Given the description of an element on the screen output the (x, y) to click on. 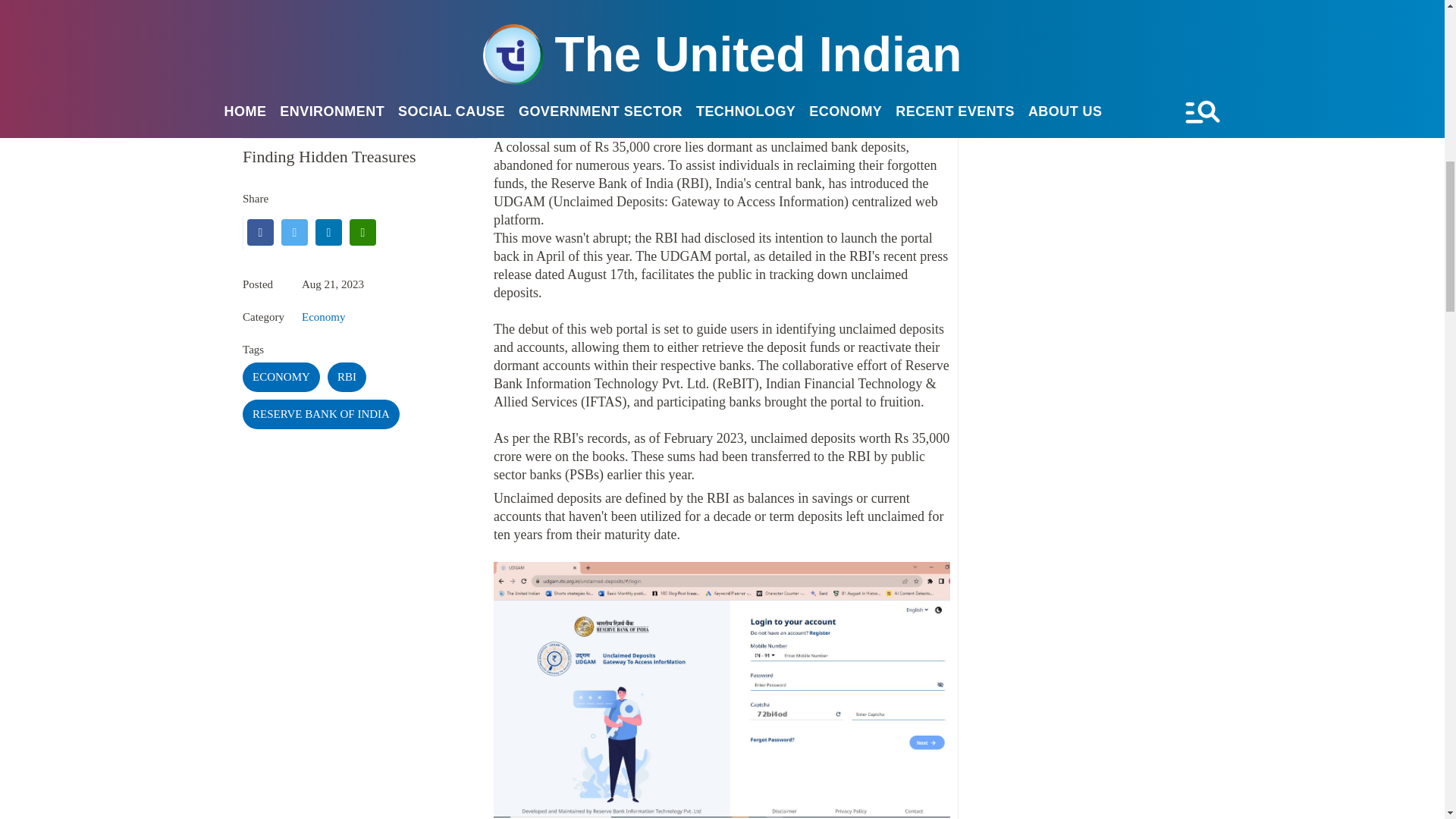
Image Source (267, 44)
RBI (346, 377)
RESERVE BANK OF INDIA (320, 414)
ECONOMY (281, 377)
Economy (323, 316)
